Given the description of an element on the screen output the (x, y) to click on. 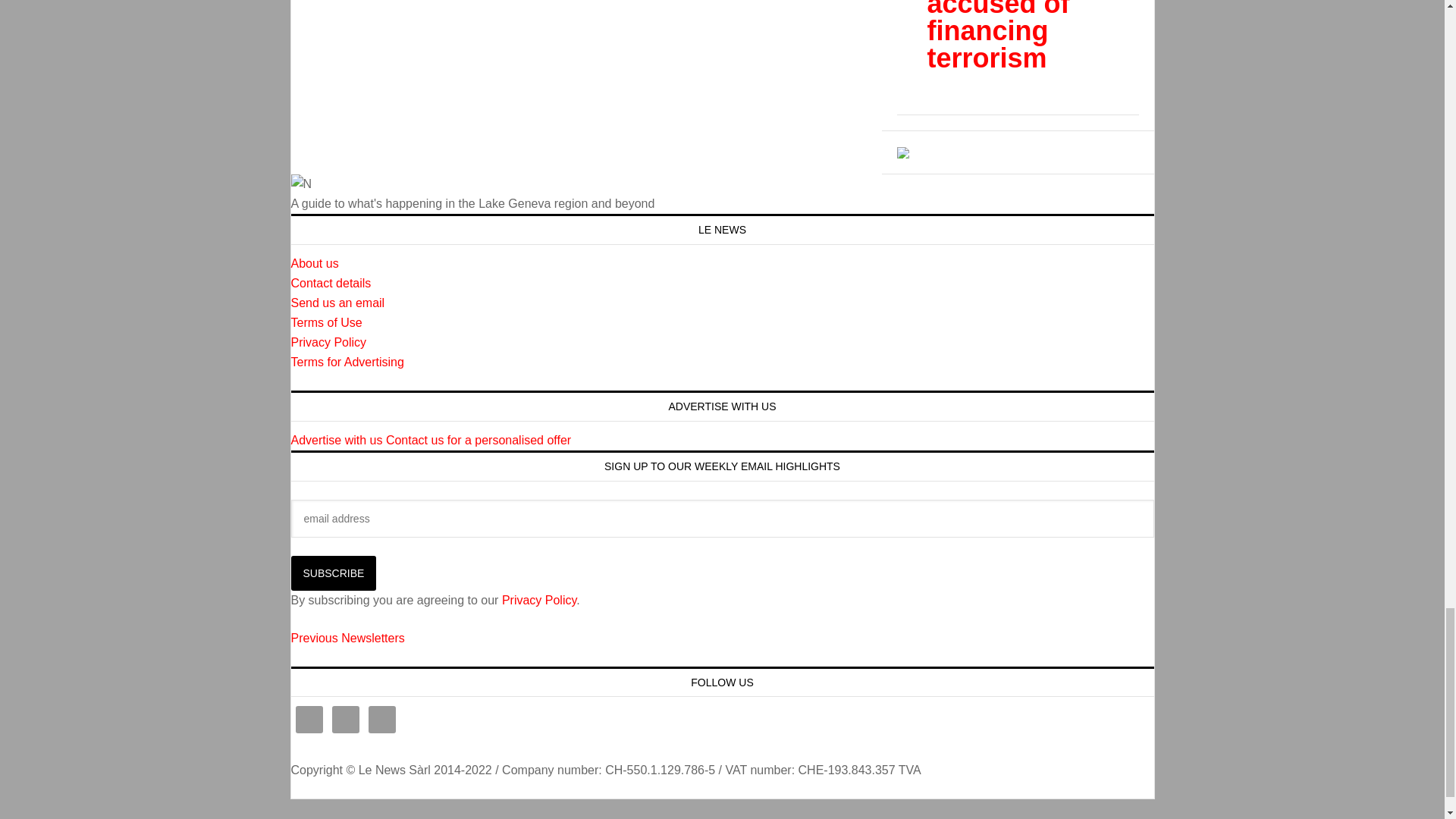
Privacy Policy (328, 341)
CONTACT (331, 282)
Subscribe (334, 573)
Previous Newsletters (347, 637)
Terms and Conditions (326, 322)
ABOUT US (315, 263)
Advertising Terms and Conditions (347, 361)
